Given the description of an element on the screen output the (x, y) to click on. 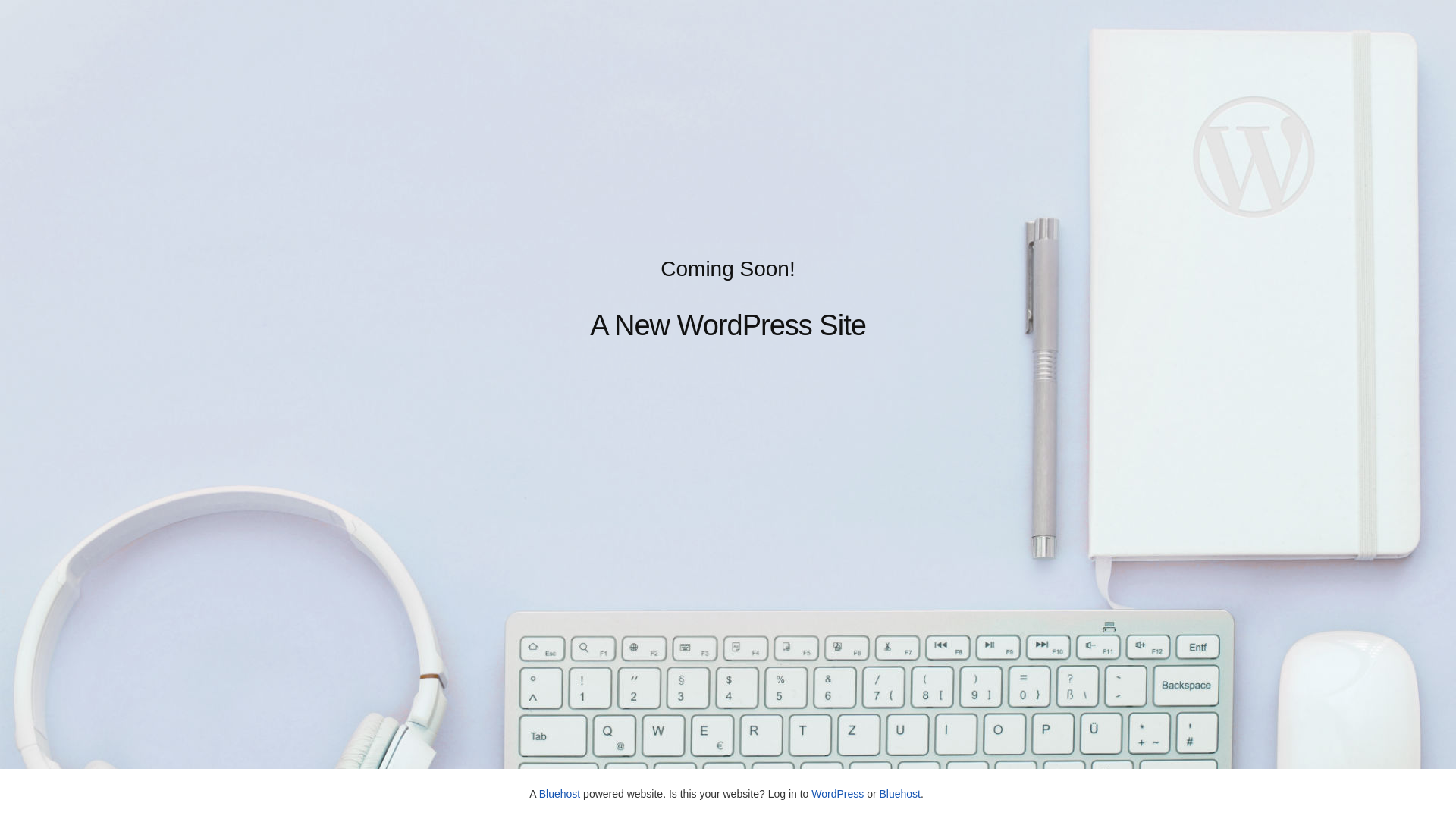
WordPress Element type: text (837, 793)
Bluehost Element type: text (559, 793)
Bluehost Element type: text (898, 793)
